Given the description of an element on the screen output the (x, y) to click on. 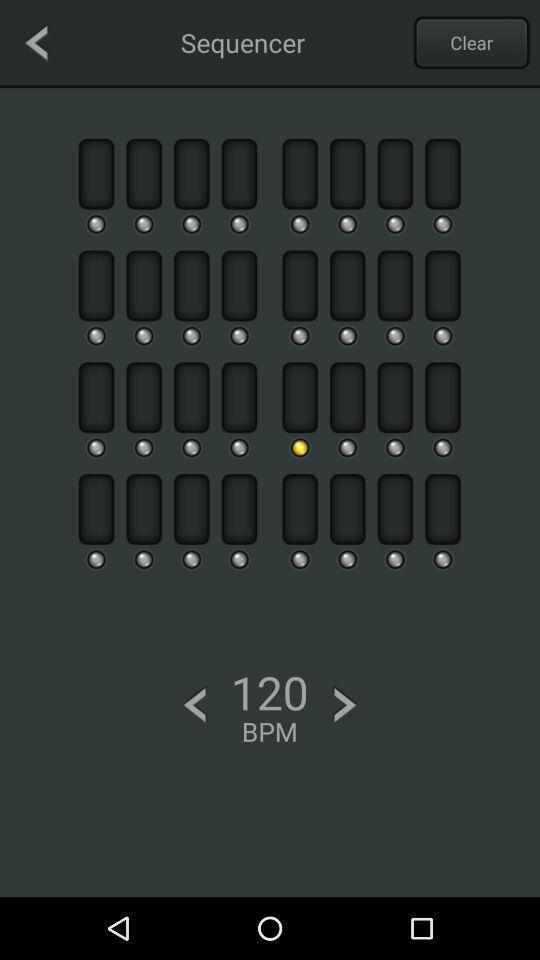
turn bpm down (194, 704)
